Given the description of an element on the screen output the (x, y) to click on. 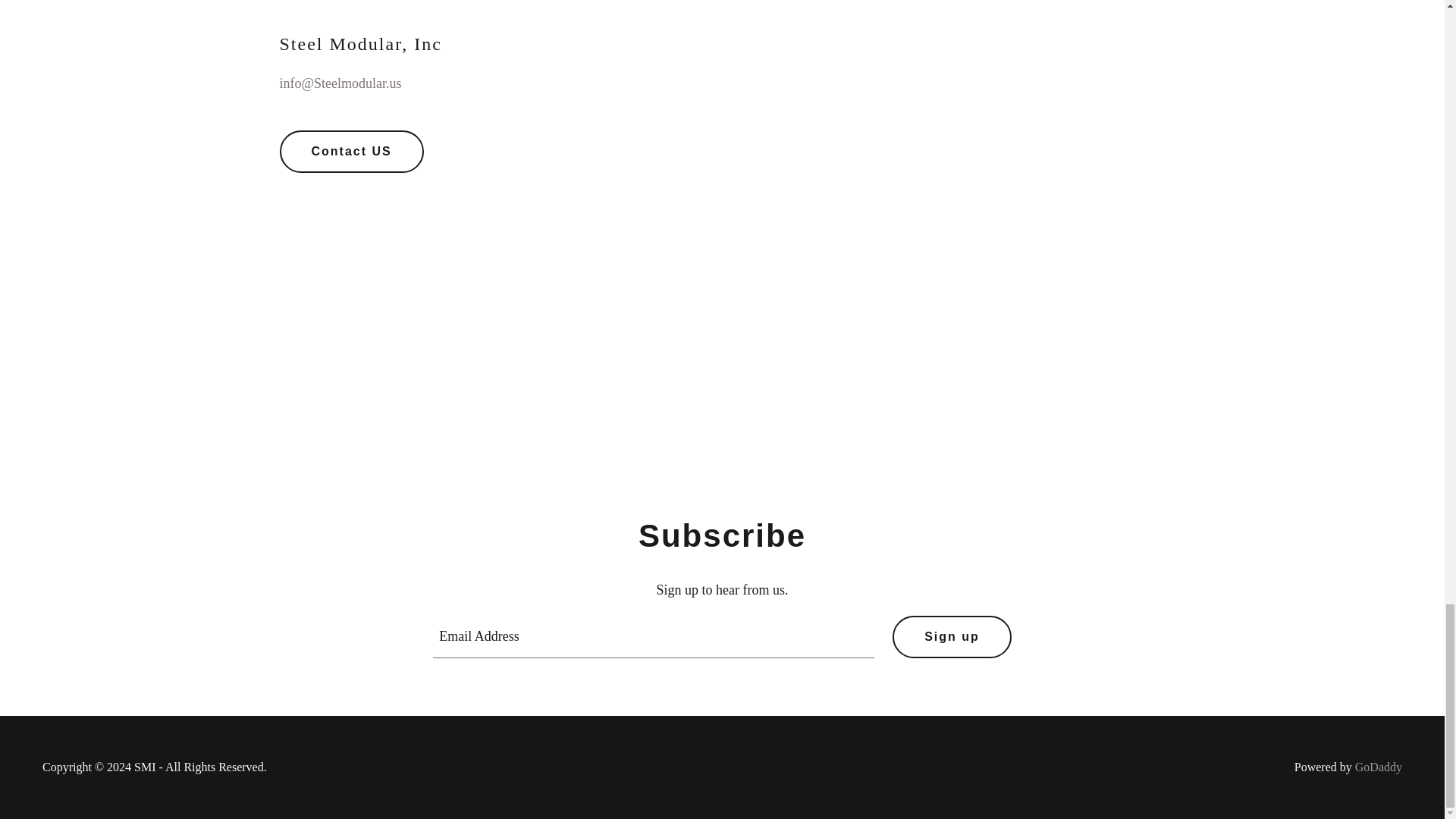
GoDaddy (1378, 766)
Sign up (951, 636)
Contact US (351, 151)
